Given the description of an element on the screen output the (x, y) to click on. 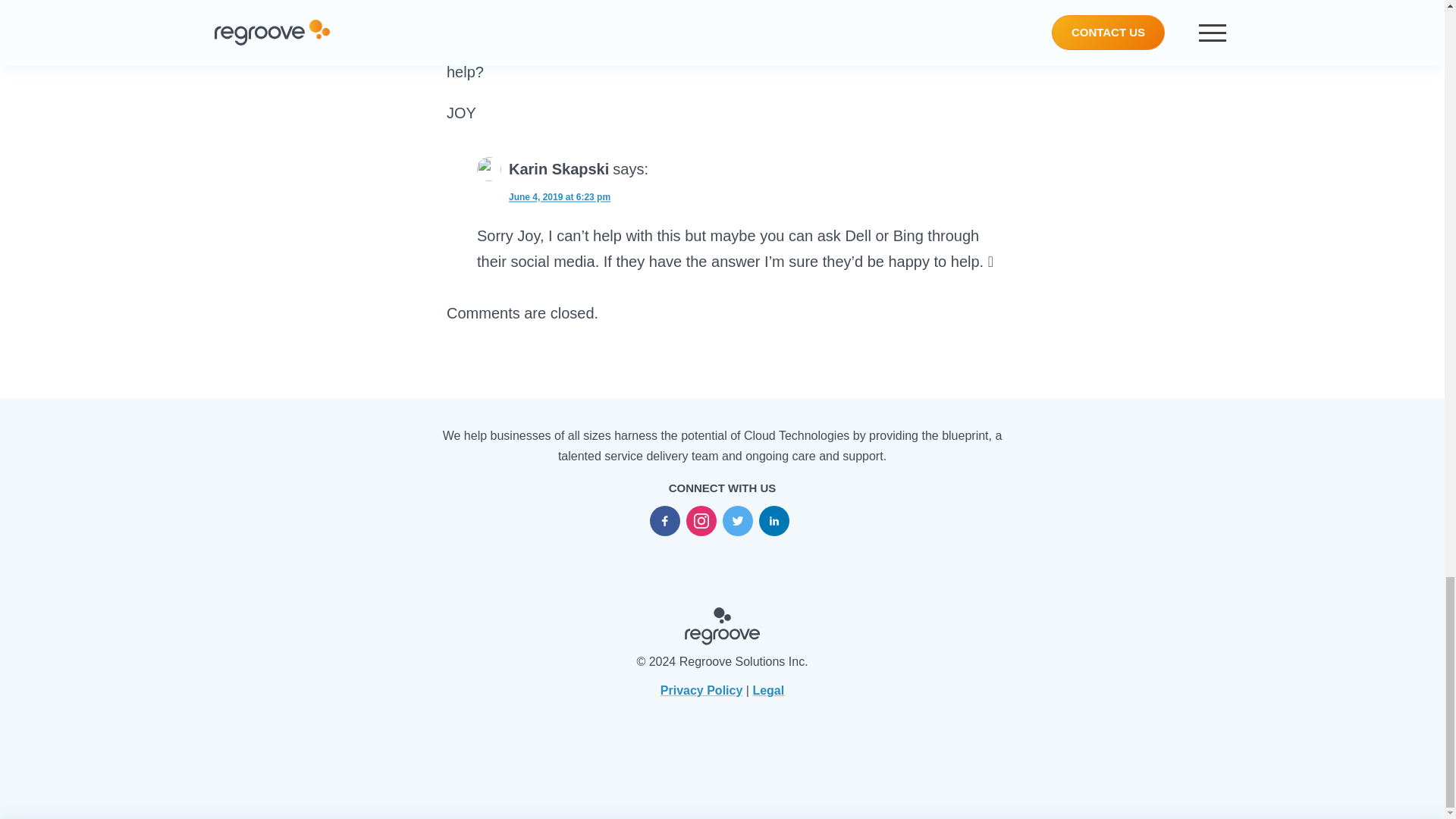
June 4, 2019 at 6:23 pm (543, 194)
